Given the description of an element on the screen output the (x, y) to click on. 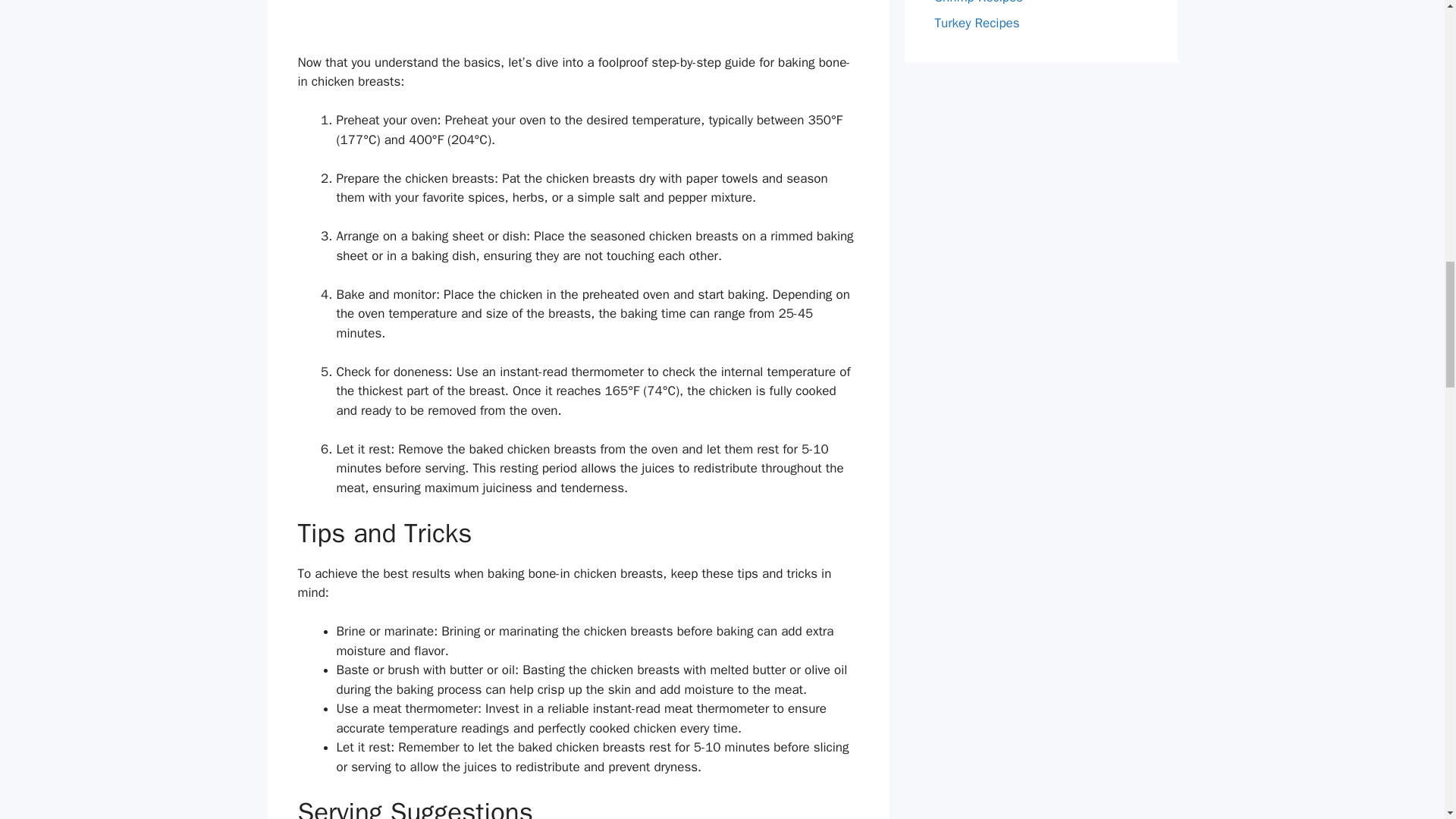
Advertisement (1040, 183)
Advertisement (578, 26)
Shrimp Recipes (978, 2)
Turkey Recipes (976, 23)
